Given the description of an element on the screen output the (x, y) to click on. 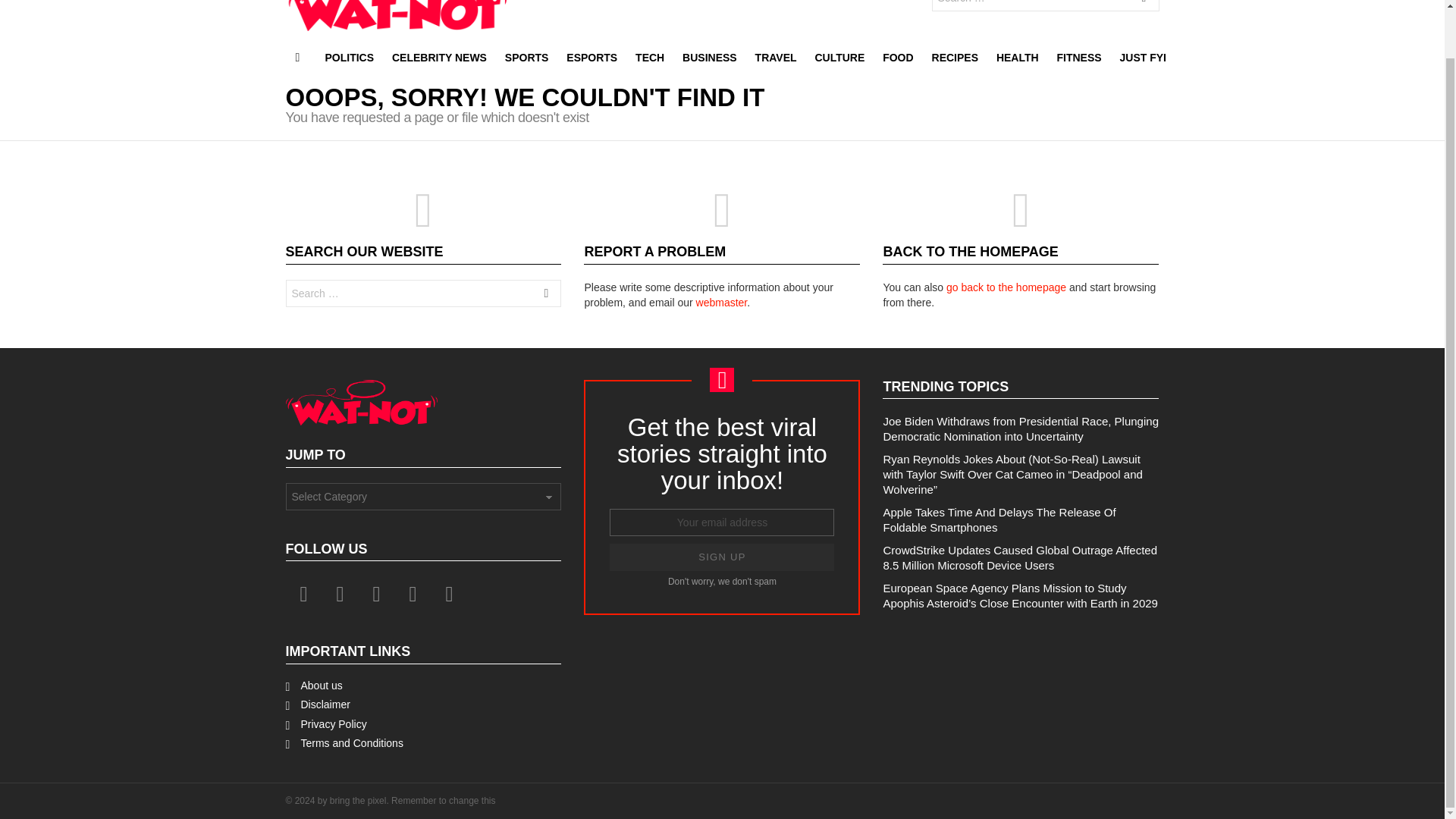
webmaster (721, 302)
CULTURE (839, 56)
TECH (649, 56)
Search for: (422, 293)
FITNESS (1079, 56)
Sign up (722, 556)
SEARCH (1143, 7)
SPORTS (526, 56)
twitter (339, 594)
ESPORTS (591, 56)
POLITICS (349, 56)
HEALTH (1017, 56)
BUSINESS (709, 56)
